Given the description of an element on the screen output the (x, y) to click on. 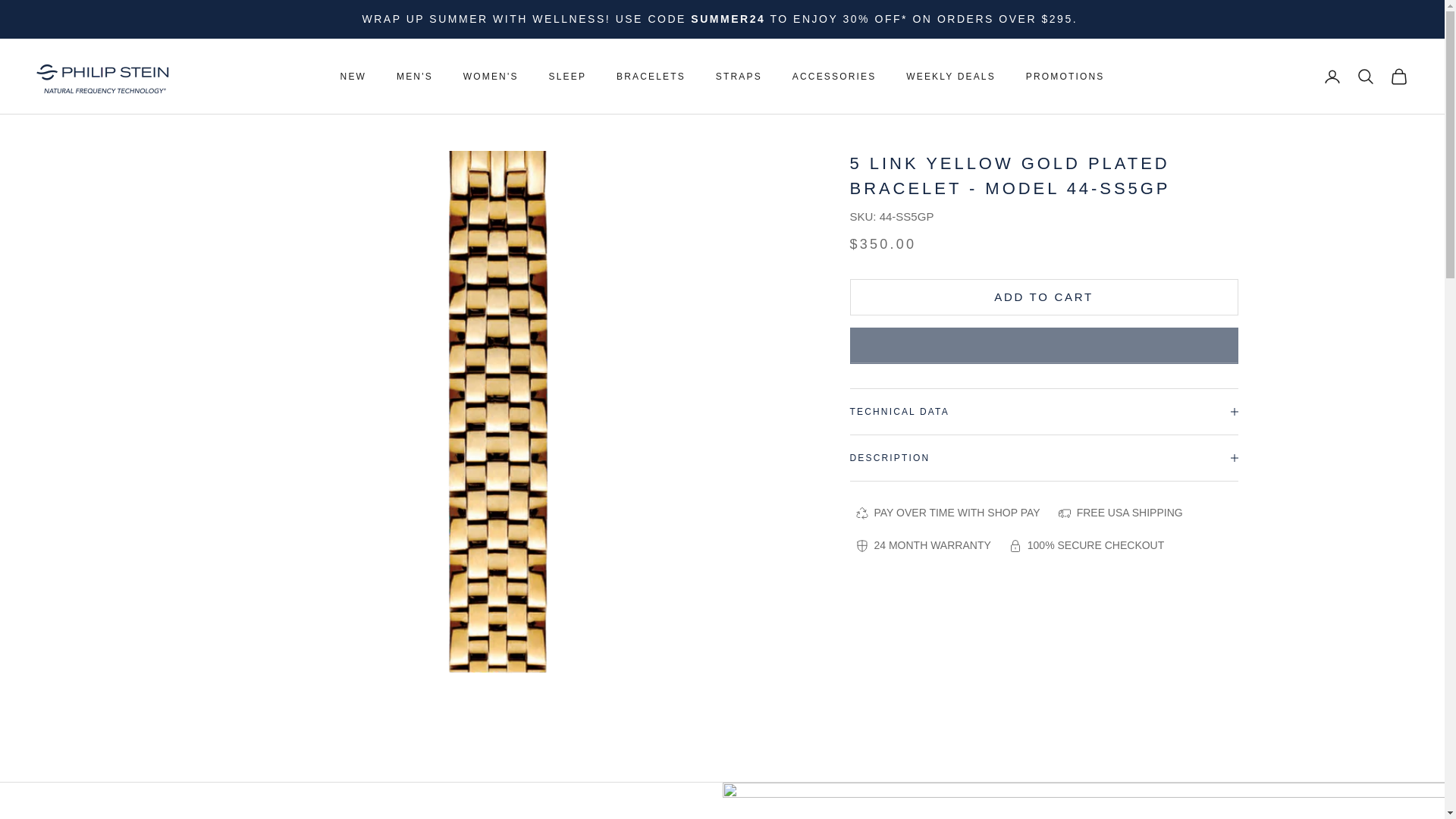
Philip Stein (102, 76)
